Given the description of an element on the screen output the (x, y) to click on. 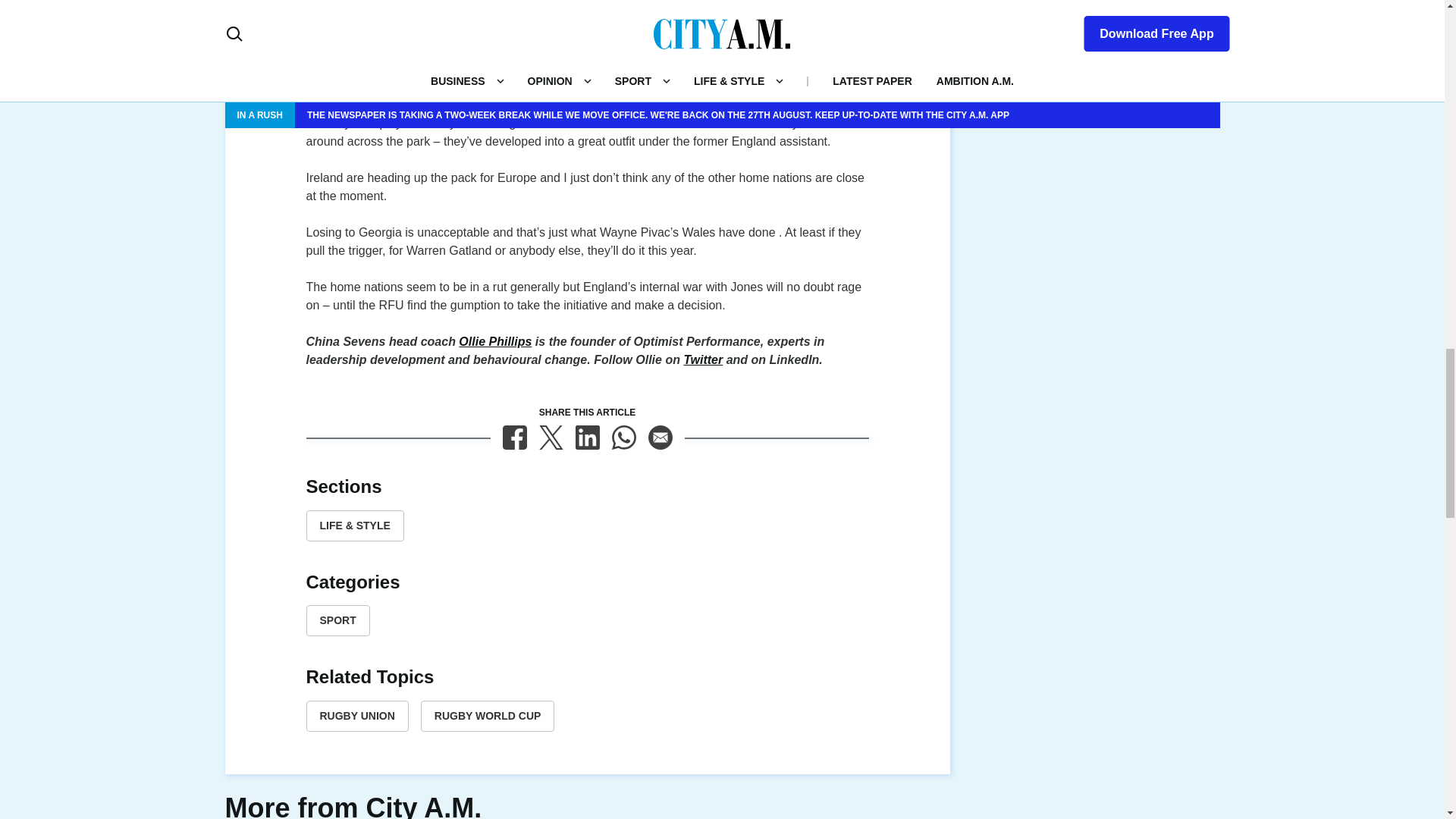
WhatsApp (622, 437)
Email (659, 437)
Facebook (513, 437)
X (550, 437)
LinkedIn (586, 437)
